Given the description of an element on the screen output the (x, y) to click on. 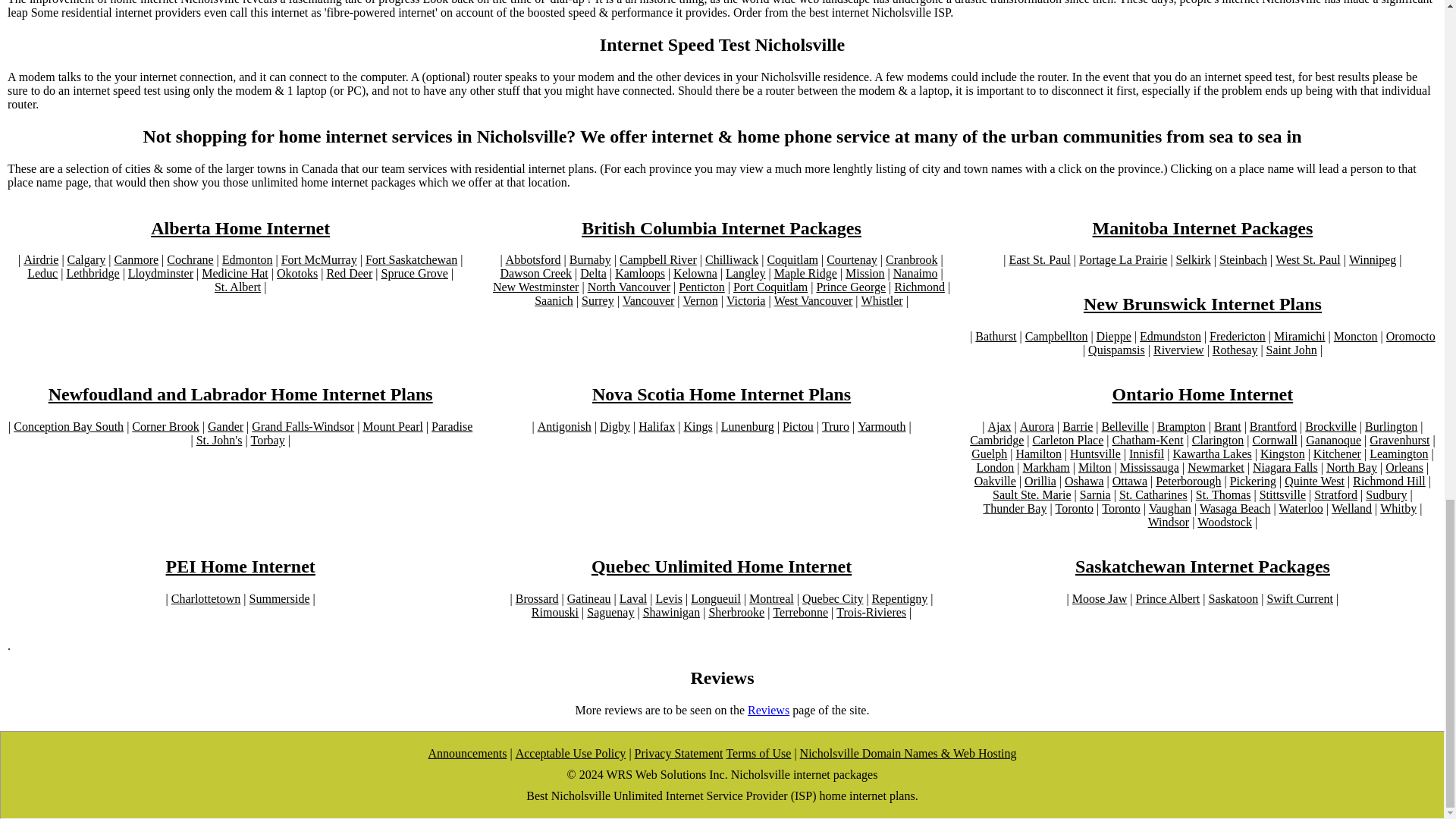
Spruce Grove (413, 273)
Lloydminster (160, 273)
Fort Saskatchewan (411, 259)
Burnaby (590, 259)
Campbell River (658, 259)
Medicine Hat (234, 273)
St. Albert (237, 287)
Calgary (86, 259)
Abbotsford (532, 259)
British Columbia Internet Packages (720, 228)
